Given the description of an element on the screen output the (x, y) to click on. 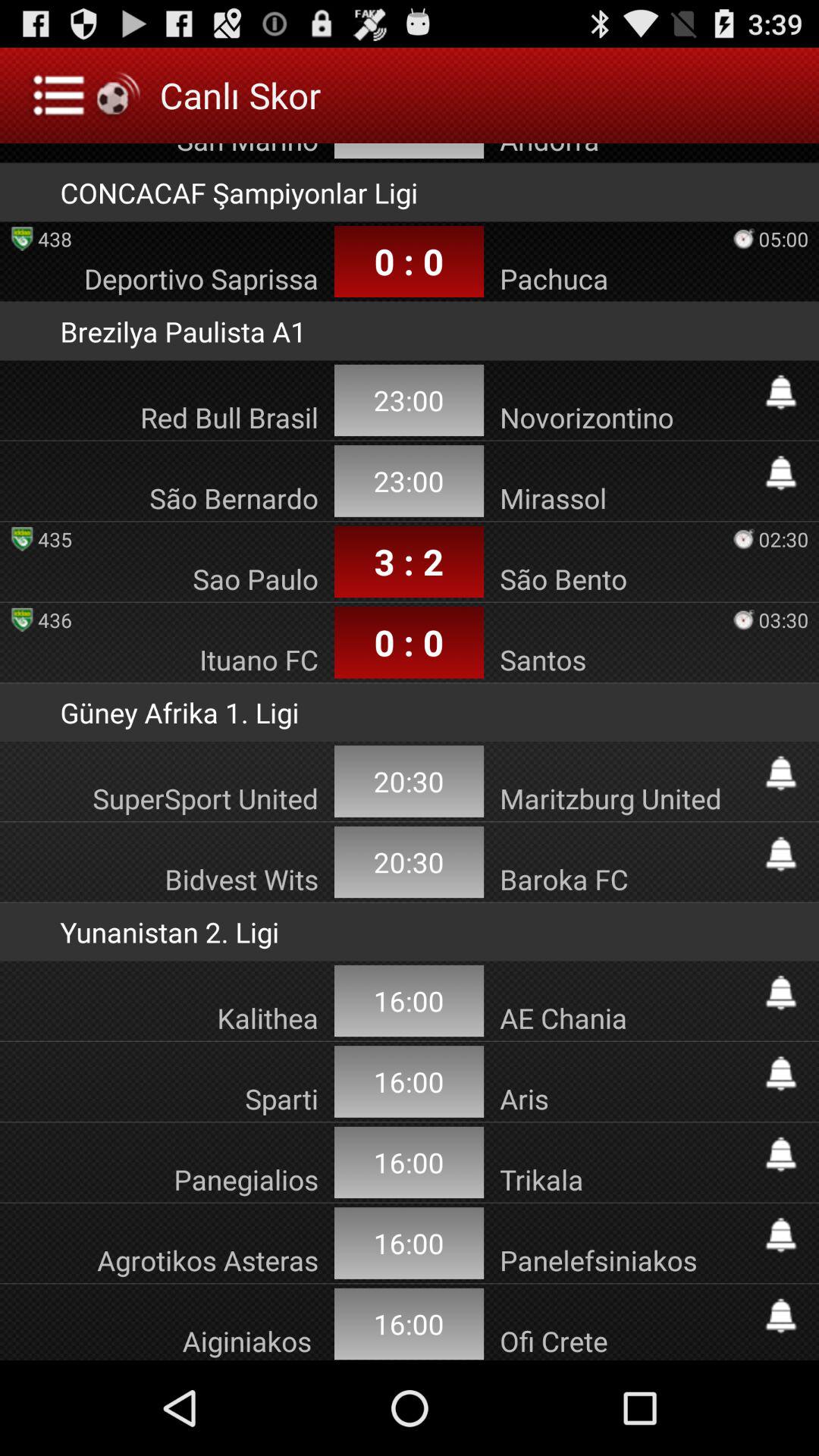
notification (780, 392)
